Given the description of an element on the screen output the (x, y) to click on. 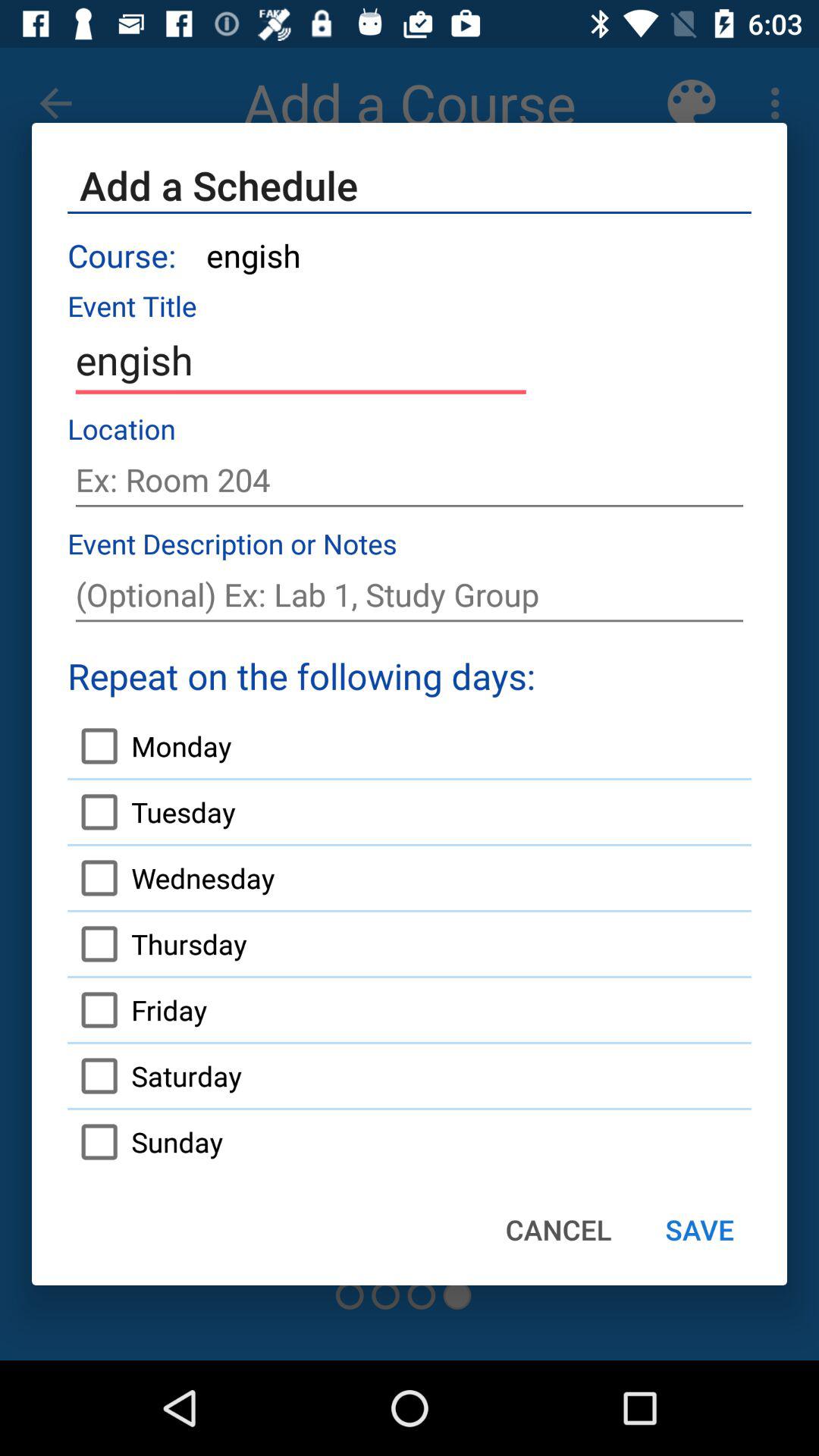
jump until the saturday item (154, 1075)
